Given the description of an element on the screen output the (x, y) to click on. 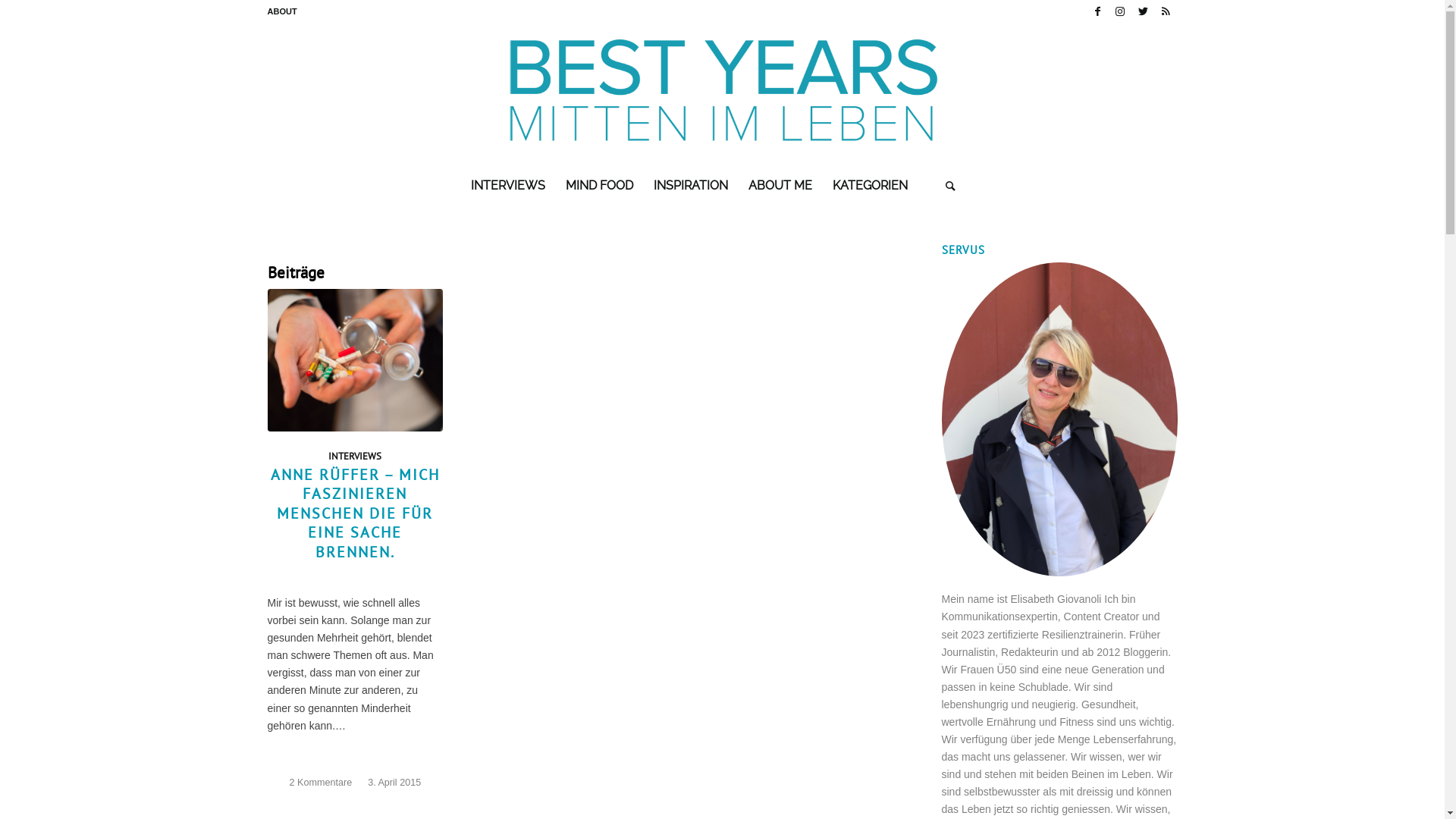
MIND FOOD Element type: text (599, 185)
INTERVIEWS Element type: text (506, 185)
2 Kommentare Element type: text (320, 782)
Facebook Element type: hover (1096, 11)
Rss Element type: hover (1165, 11)
Instagram Element type: hover (1119, 11)
INSPIRATION Element type: text (690, 185)
ABOUT Element type: text (281, 11)
KATEGORIEN Element type: text (869, 185)
INTERVIEWS Element type: text (354, 455)
ABOUT ME Element type: text (779, 185)
Twitter Element type: hover (1142, 11)
